Given the description of an element on the screen output the (x, y) to click on. 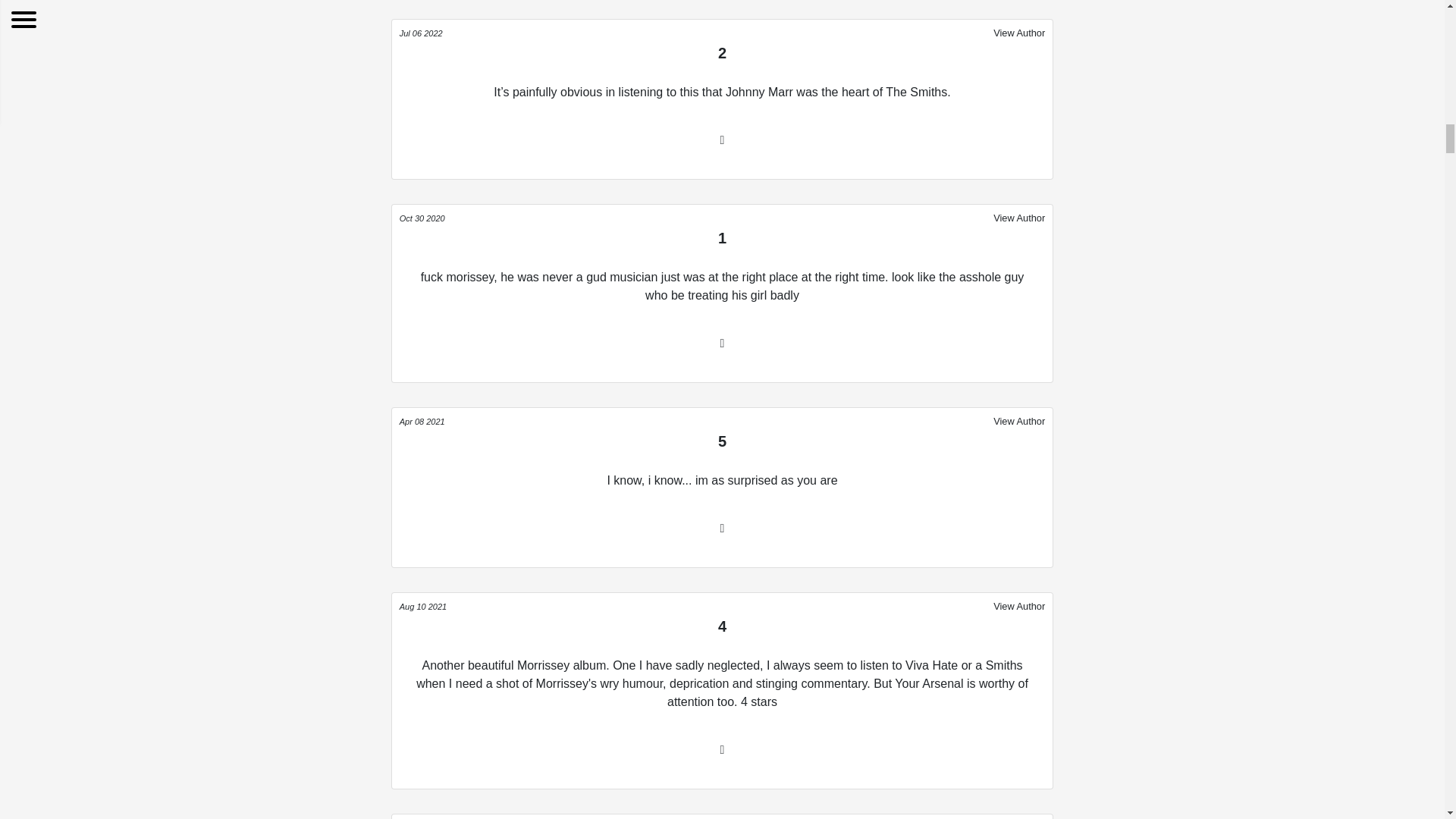
View Author (1018, 606)
View Author (1018, 420)
View Author (1018, 217)
View Author (1018, 32)
View Author (1018, 818)
